Given the description of an element on the screen output the (x, y) to click on. 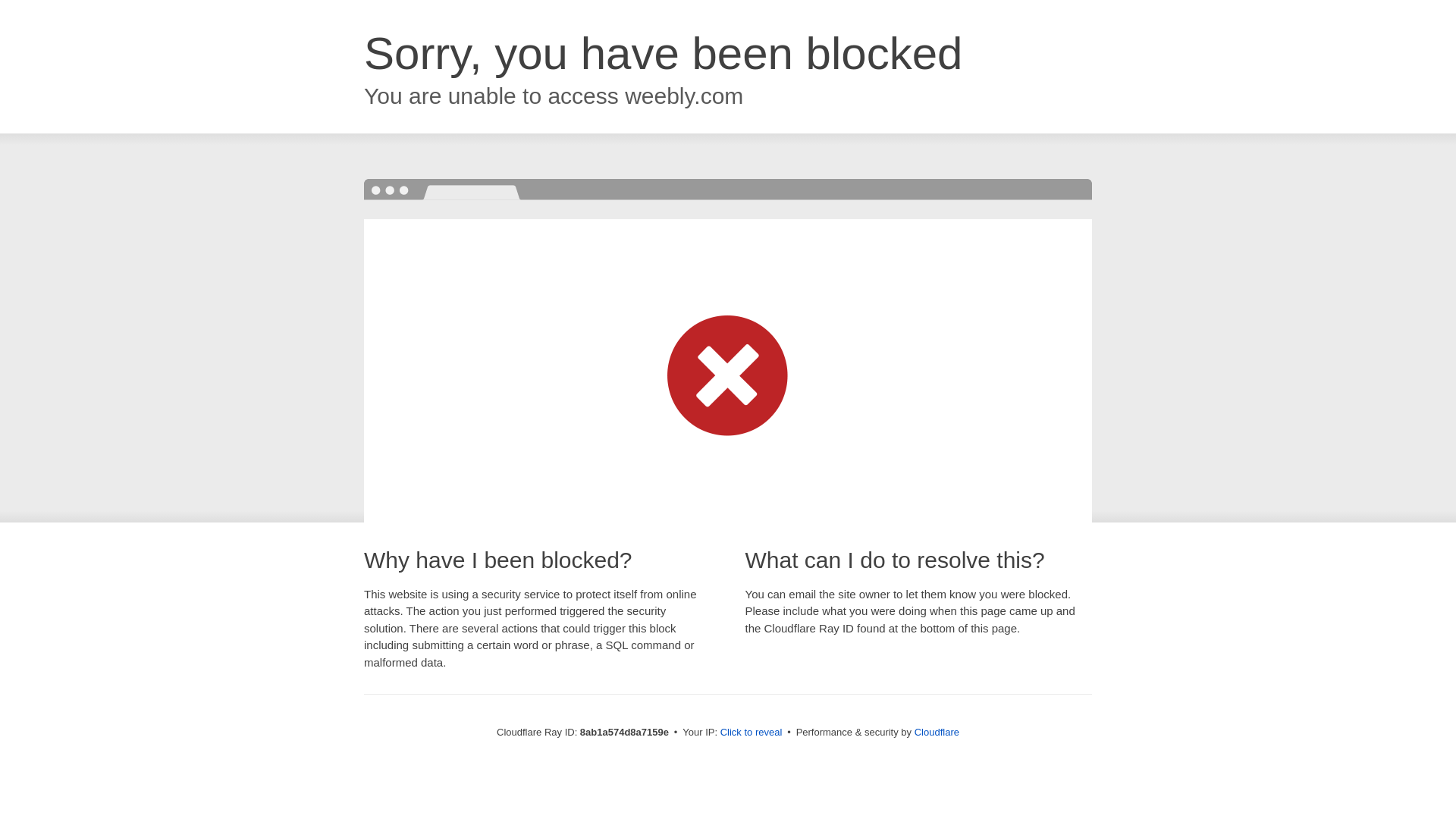
Click to reveal (751, 732)
Cloudflare (936, 731)
